Given the description of an element on the screen output the (x, y) to click on. 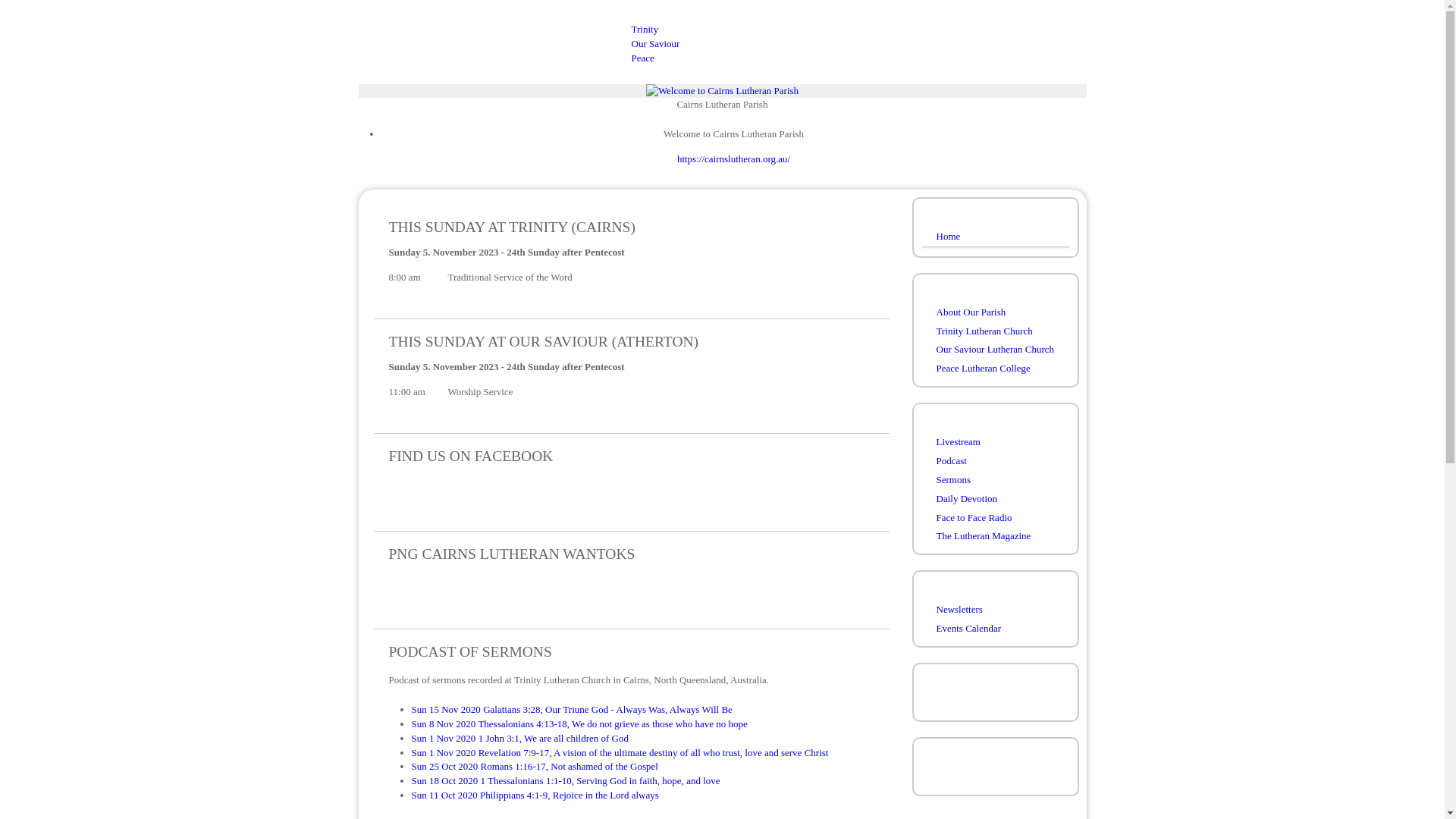
Sun 1 Nov 2020 1 John 3:1, We are all children of God Element type: text (519, 737)
Our Saviour Lutheran Church Element type: text (994, 349)
Our Saviour Element type: text (654, 43)
Face to Face Radio Element type: text (994, 517)
Events Calendar Element type: text (994, 628)
Podcast Element type: text (994, 460)
Peace Lutheran College Element type: text (994, 368)
Welcome to Cairns Lutheran Parish Element type: hover (722, 91)
The Lutheran Magazine Element type: text (994, 536)
About Our Parish Element type: text (994, 312)
Sun 25 Oct 2020 Romans 1:16-17, Not ashamed of the Gospel Element type: text (534, 765)
Daily Devotion Element type: text (994, 498)
Newsletters Element type: text (994, 609)
Peace Element type: text (641, 57)
Sermons Element type: text (994, 479)
Livestream Element type: text (994, 442)
https://cairnslutheran.org.au/ Element type: text (733, 158)
Trinity Element type: text (644, 28)
Trinity Lutheran Church Element type: text (994, 331)
Home Element type: text (994, 236)
